Given the description of an element on the screen output the (x, y) to click on. 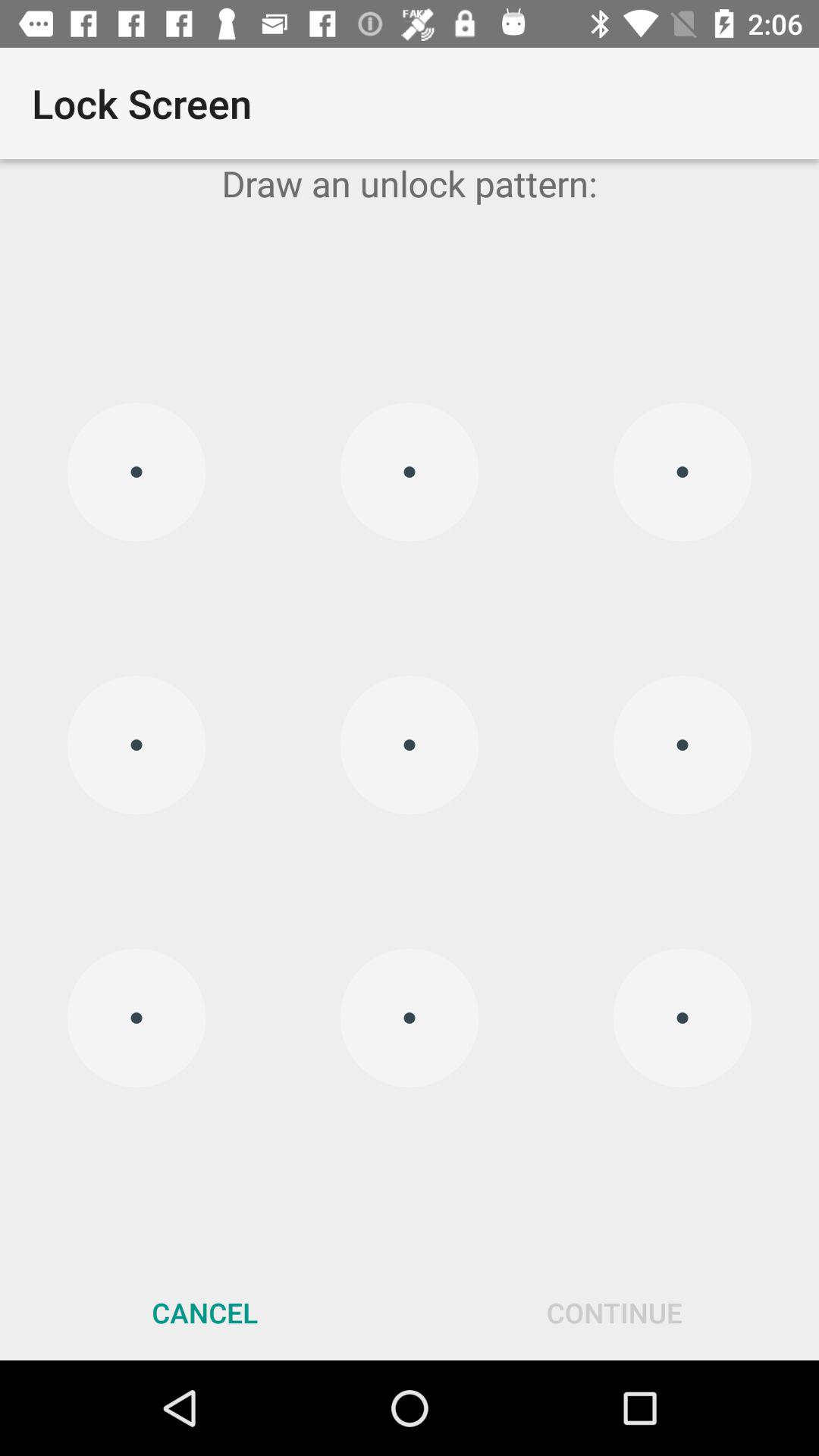
select the icon to the right of the cancel (614, 1312)
